Given the description of an element on the screen output the (x, y) to click on. 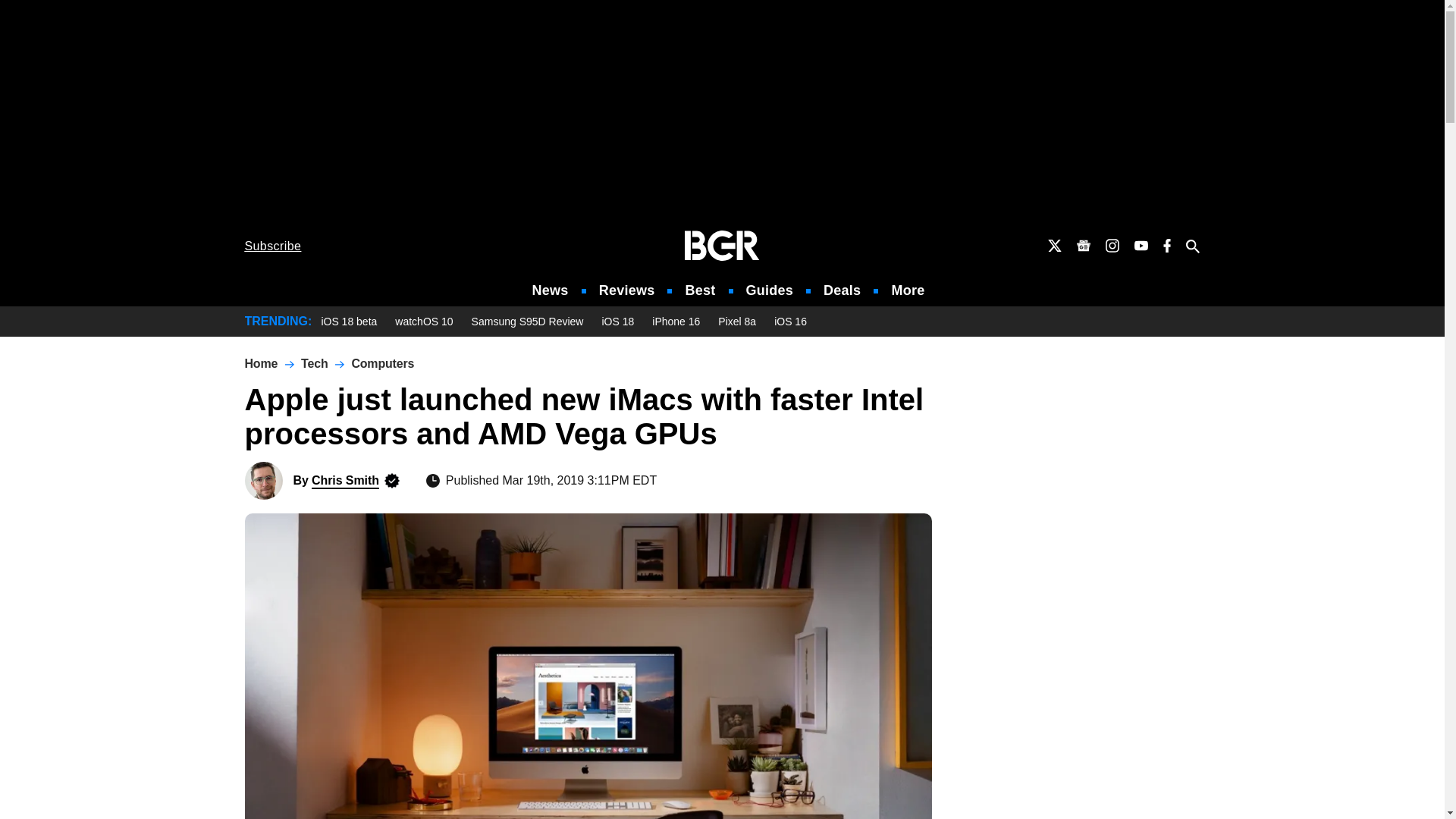
Deals (842, 290)
Guides (769, 290)
Posts by Chris Smith (344, 480)
News (550, 290)
Best (699, 290)
3rd party ad content (721, 112)
More (907, 290)
Reviews (626, 290)
Subscribe (272, 245)
